Given the description of an element on the screen output the (x, y) to click on. 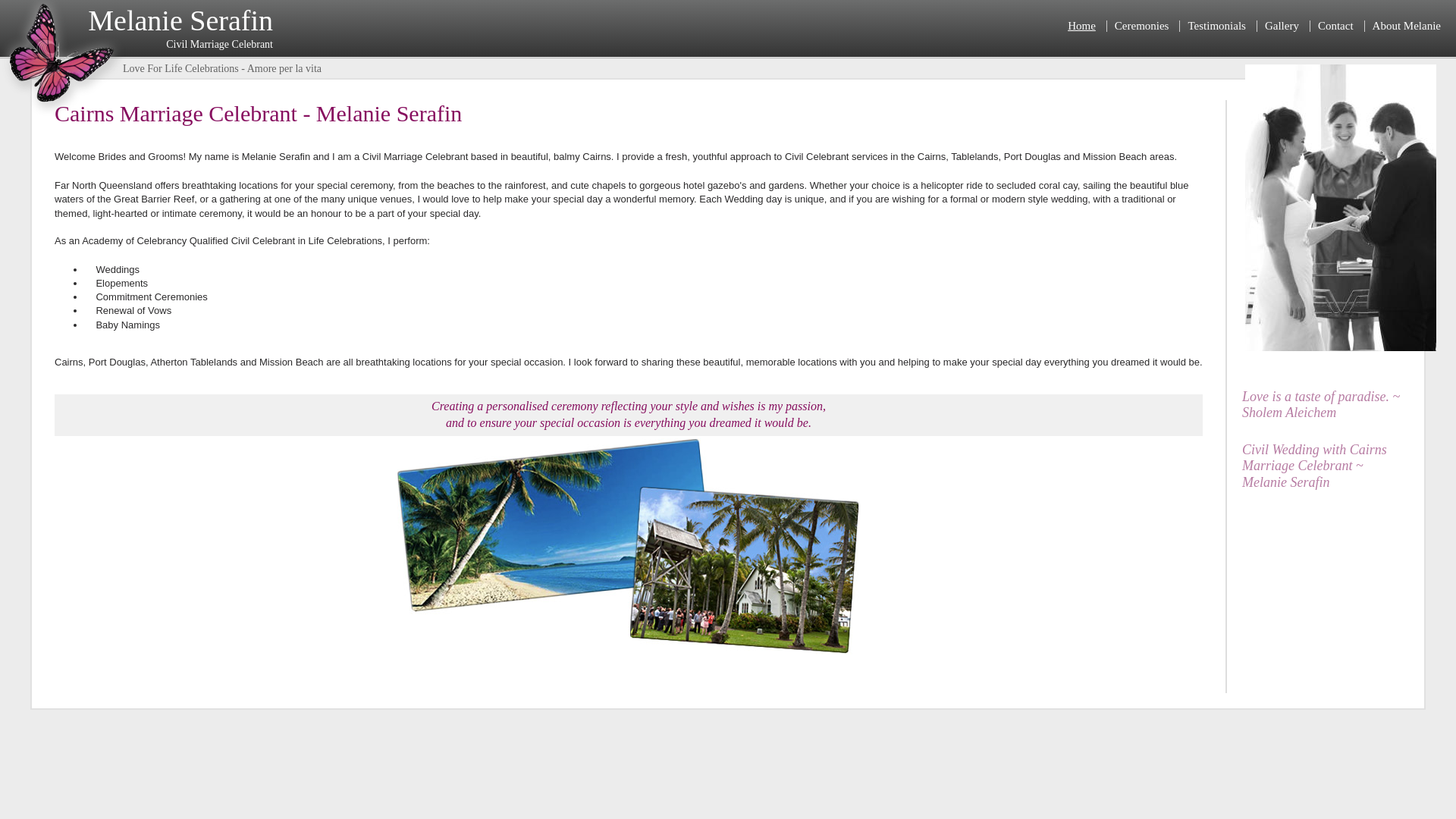
Skip to main content Element type: text (40, 6)
Melanie Serafin Element type: hover (63, 113)
About Melanie Element type: text (1406, 25)
Melanie Serafin Element type: text (180, 20)
Contact Element type: text (1335, 25)
Testimonials Element type: text (1216, 25)
Ceremonies Element type: text (1141, 25)
Home Element type: text (1081, 25)
Gallery Element type: text (1281, 25)
